Given the description of an element on the screen output the (x, y) to click on. 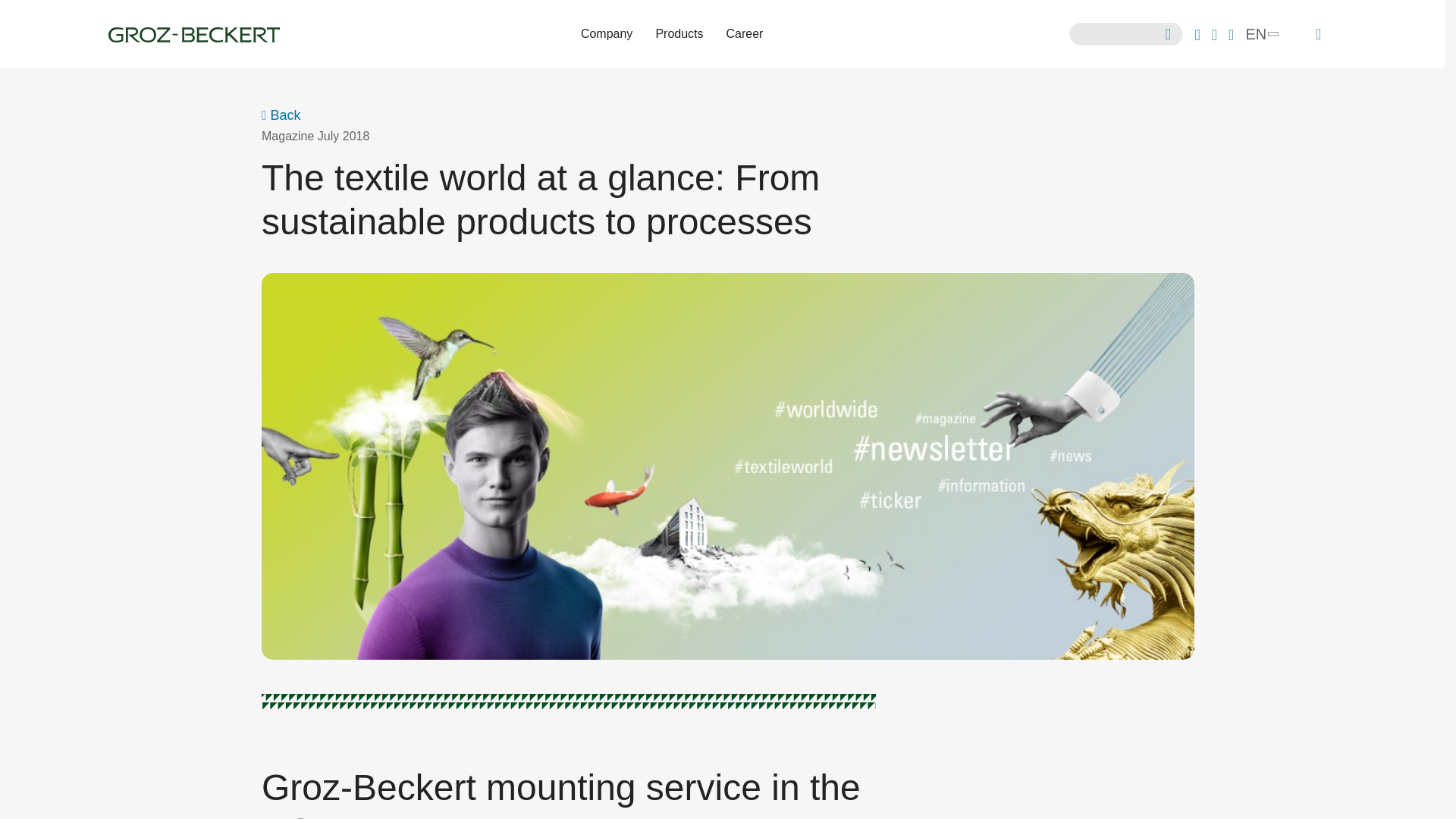
Products (678, 34)
Career (744, 34)
EN (1259, 33)
Company (606, 34)
